Given the description of an element on the screen output the (x, y) to click on. 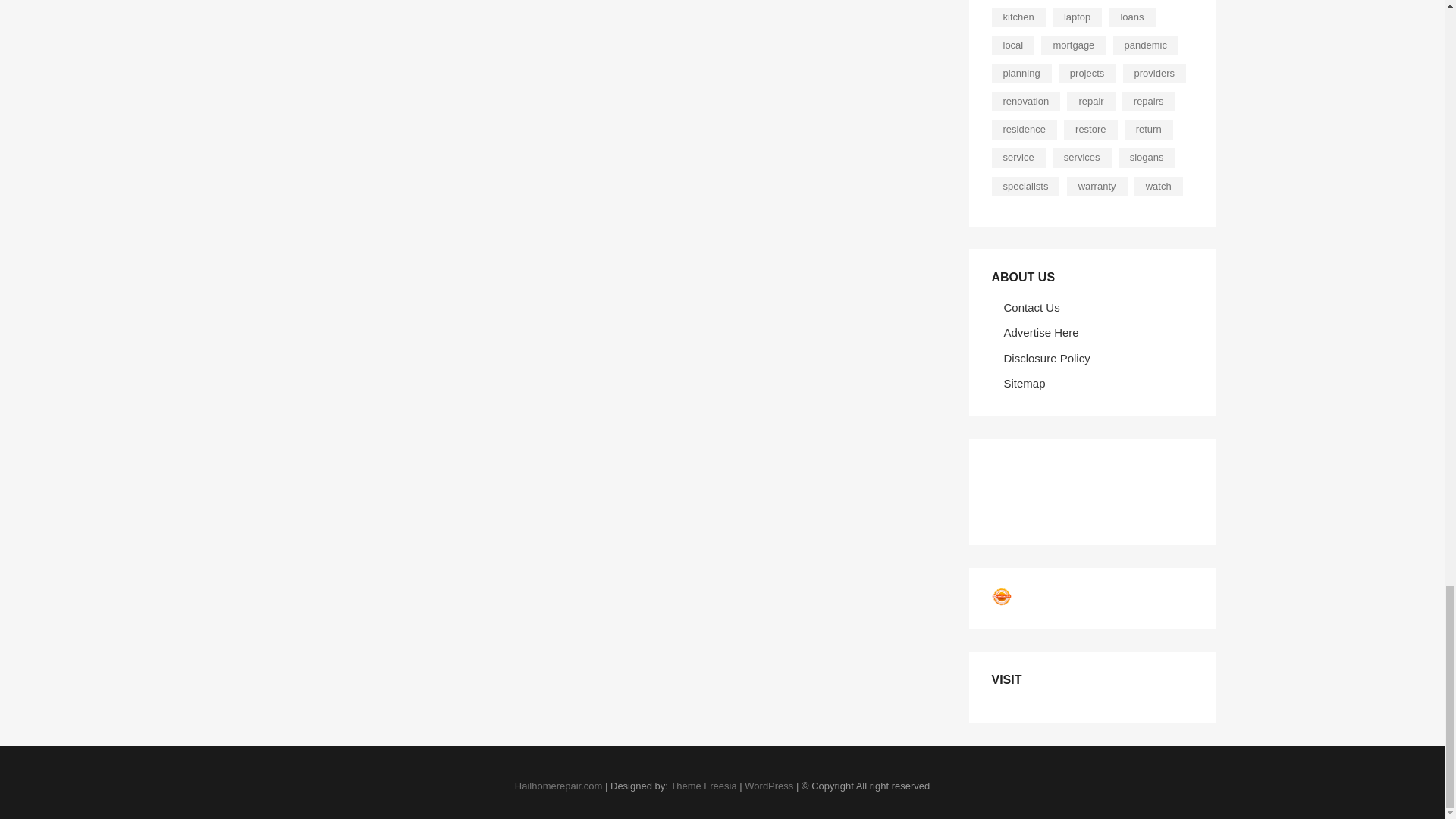
Hailhomerepair.com (558, 785)
Theme Freesia (702, 785)
Seedbacklink (1001, 596)
WordPress (768, 785)
